Given the description of an element on the screen output the (x, y) to click on. 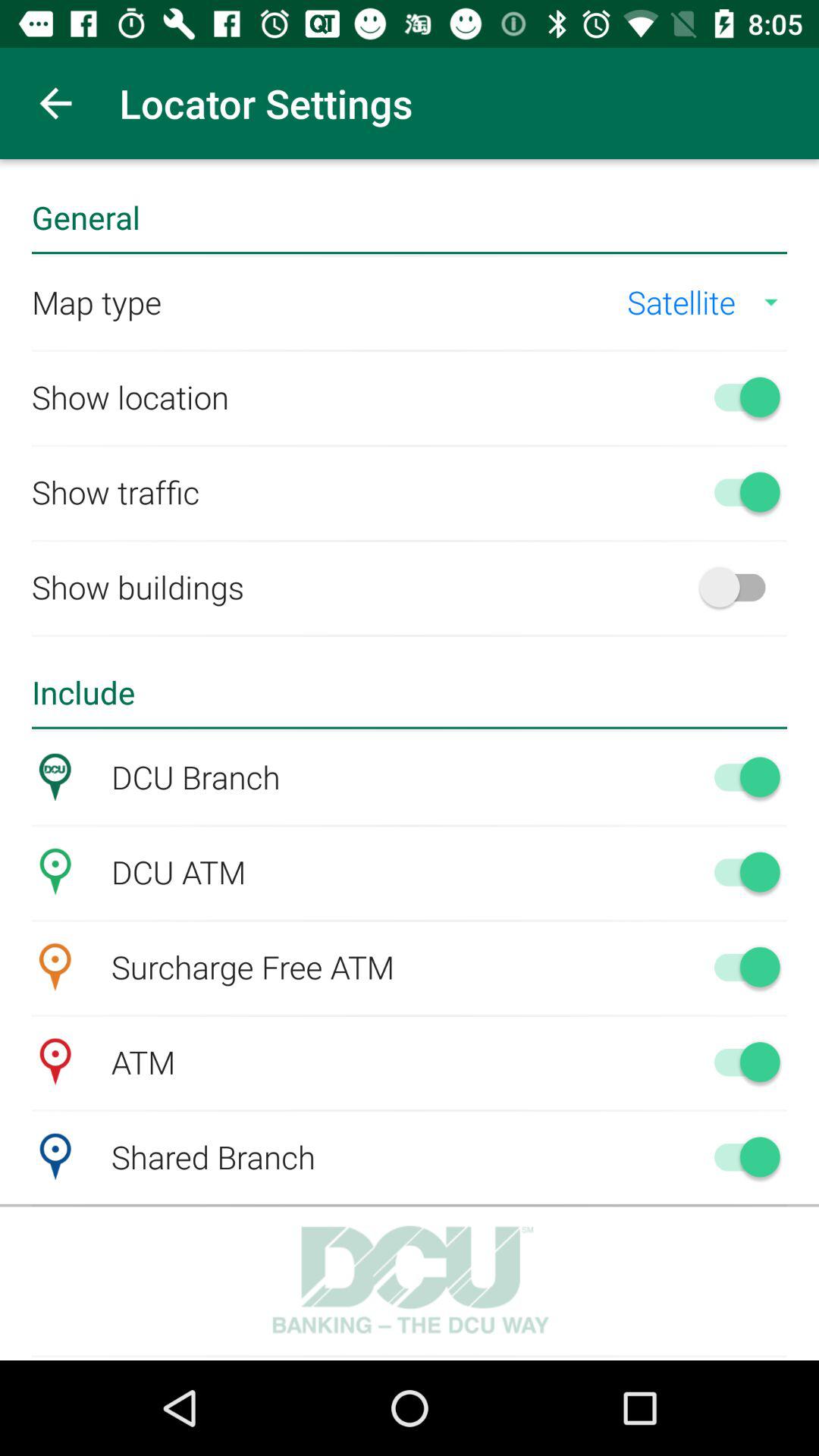
enabling or disabling shared branch button (739, 1156)
